Given the description of an element on the screen output the (x, y) to click on. 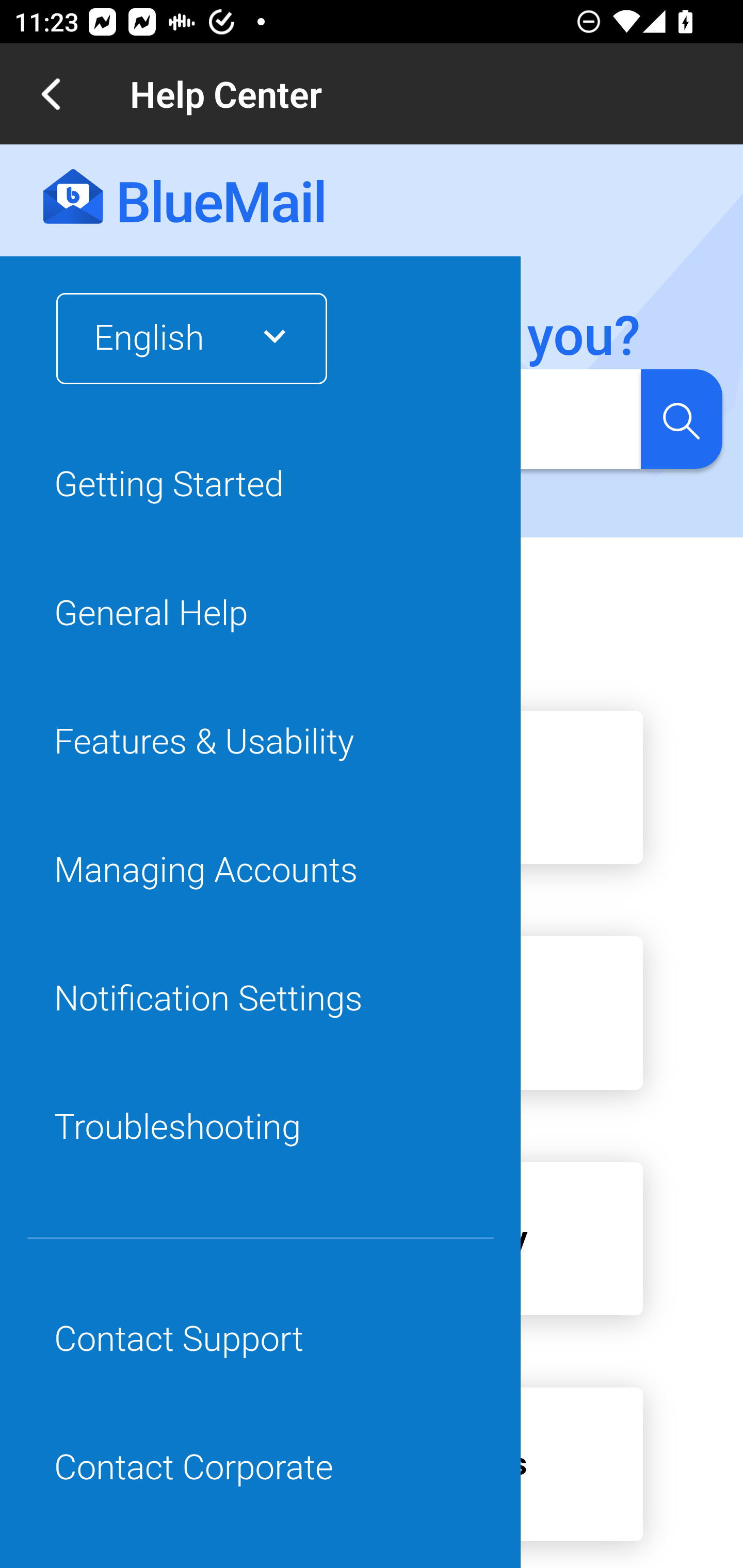
Navigate up (50, 93)
BlueMail Logo (184, 197)
English (178, 338)
search (680, 418)
Getting Started (260, 485)
General Help (260, 613)
Features & Usability (260, 741)
Managing Accounts (260, 870)
Notification Settings (260, 998)
Troubleshooting (260, 1128)
Contact Support (260, 1340)
Contact Corporate (260, 1468)
